Given the description of an element on the screen output the (x, y) to click on. 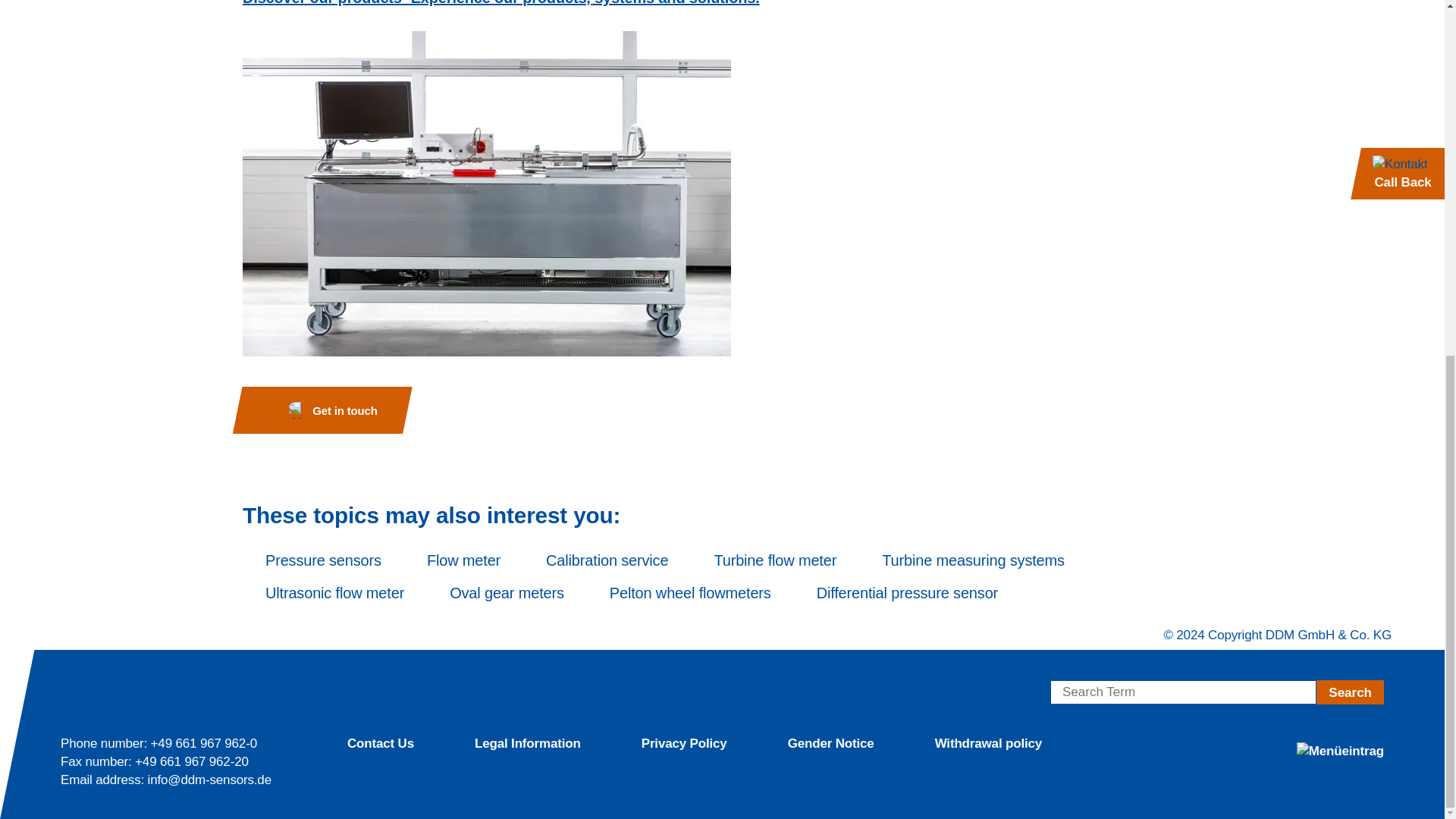
Back to the Top (1417, 637)
Kontakt (320, 410)
Search (1350, 692)
Search (1350, 692)
